Given the description of an element on the screen output the (x, y) to click on. 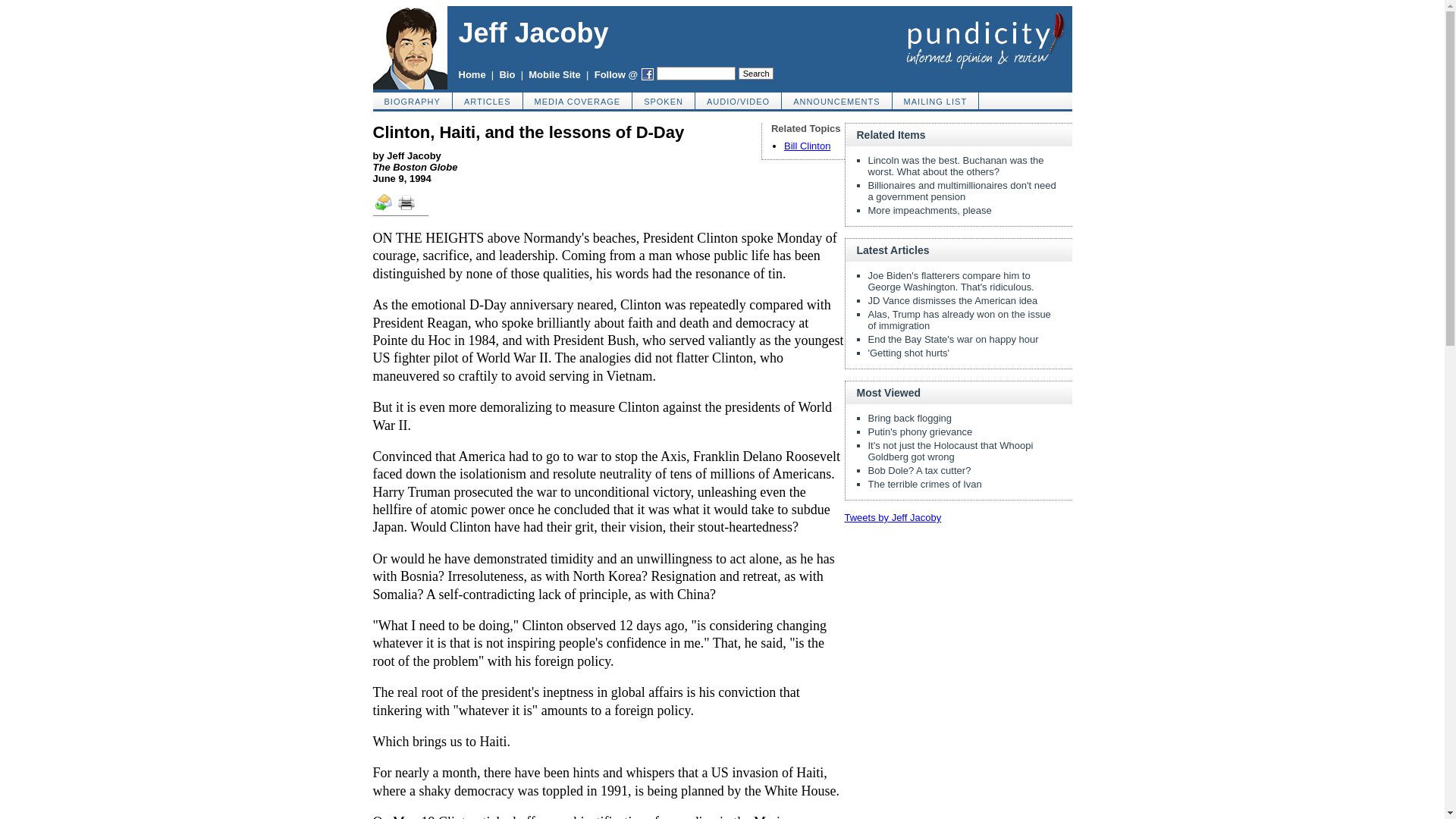
Bill Clinton (806, 145)
Bring back flogging (909, 418)
Alas, Trump has already won on the issue of immigration (958, 319)
Facebook (647, 73)
Print (411, 207)
It's not just the Holocaust that Whoopi Goldberg got wrong (949, 450)
Home (471, 74)
ARTICLES (487, 100)
Tweets by Jeff Jacoby (893, 517)
Putin's phony grievance (919, 431)
MAILING LIST (935, 100)
Search (755, 73)
MEDIA COVERAGE (577, 100)
More impeachments, please (929, 210)
